Given the description of an element on the screen output the (x, y) to click on. 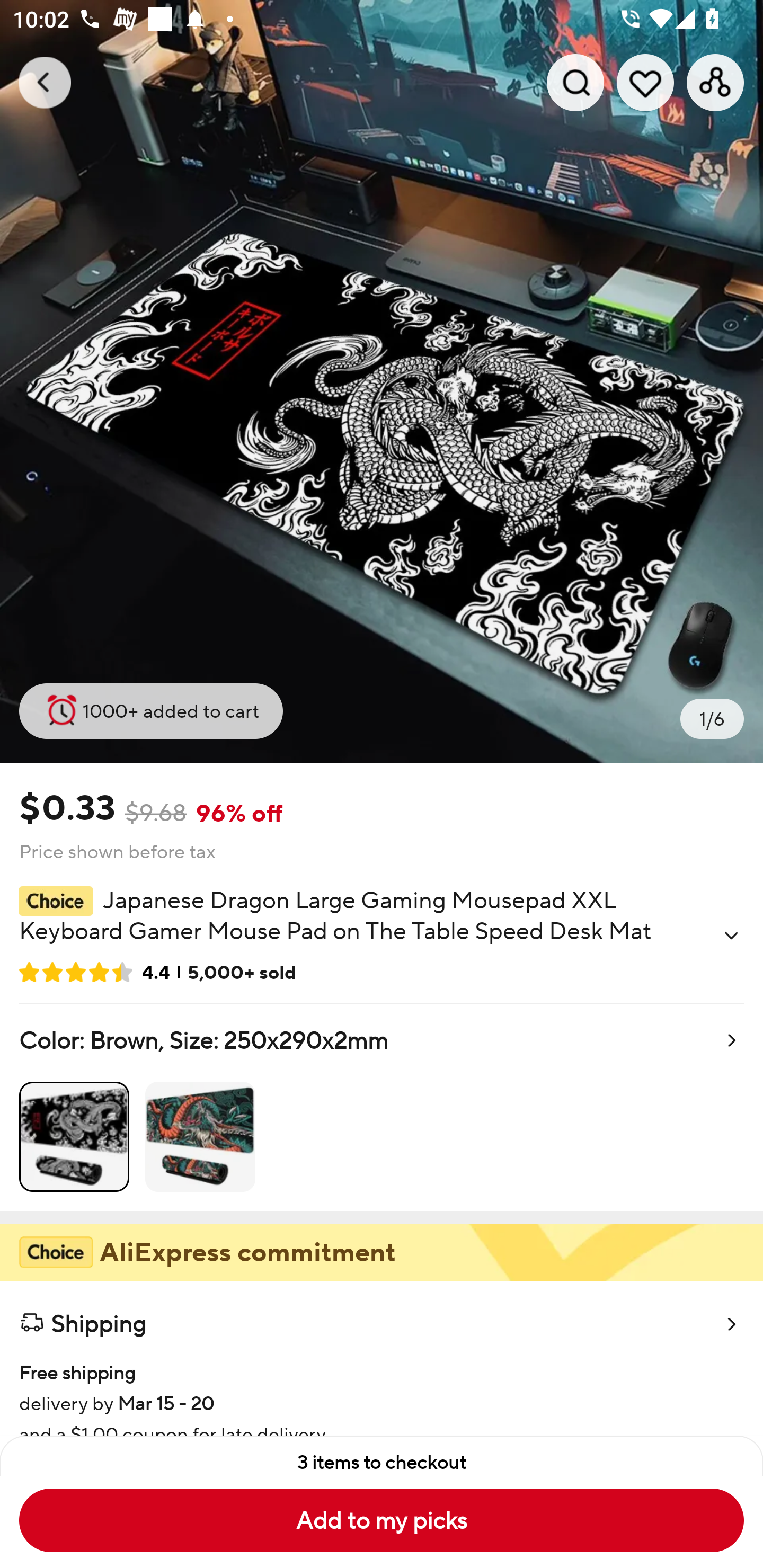
Navigate up (44, 82)
 (730, 935)
Color: Brown, Size: 250x290x2mm  (381, 1106)
Add to my picks (381, 1520)
